Given the description of an element on the screen output the (x, y) to click on. 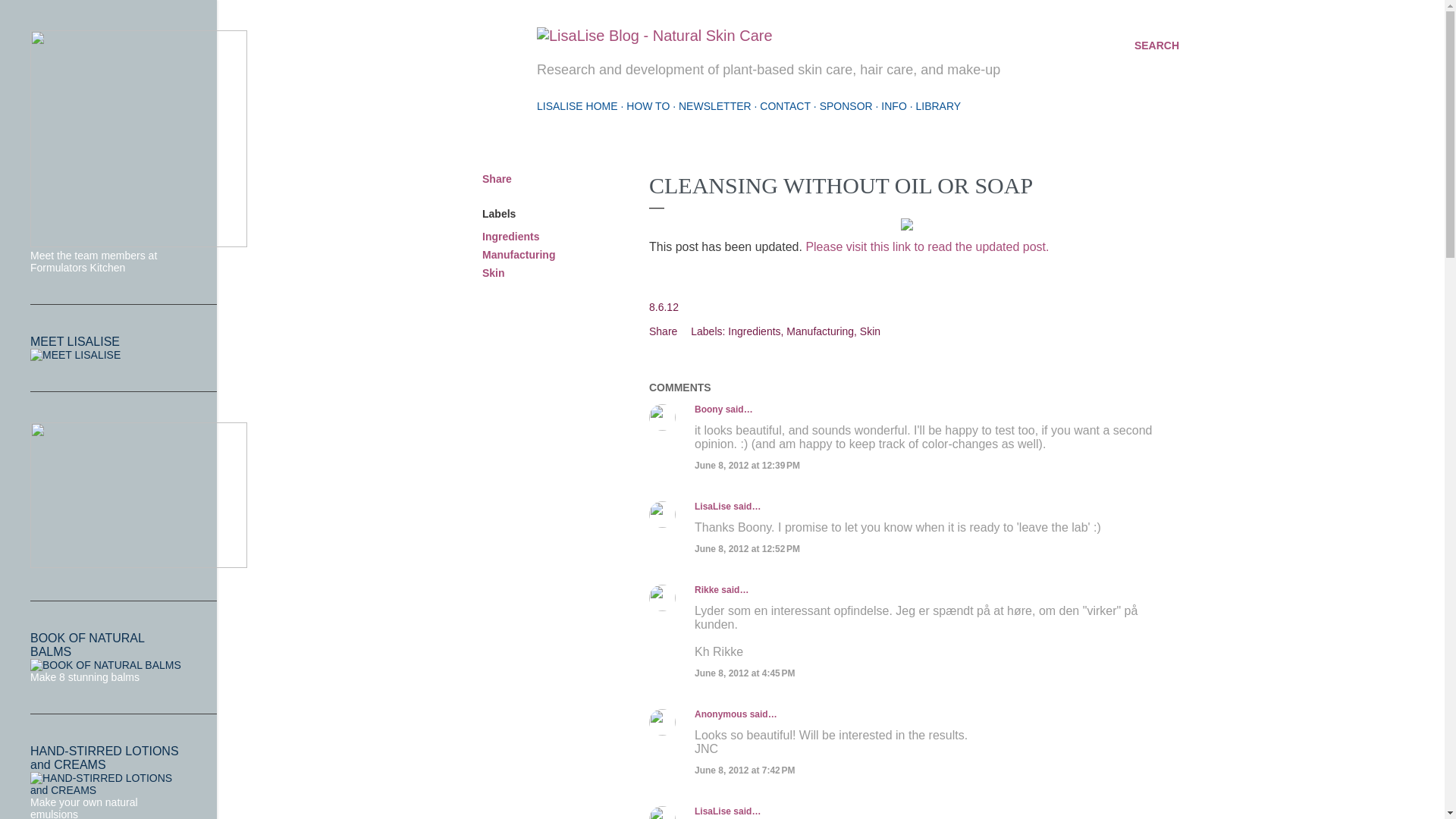
LISALISE HOME (577, 105)
Please visit this link to read the updated post.  (928, 246)
NEWSLETTER (714, 105)
Manufacturing (821, 331)
INFO (892, 105)
Rikke (706, 589)
LisaLise (712, 506)
Share (496, 178)
SEARCH (1156, 45)
LIBRARY (937, 105)
8.6.12 (663, 306)
comment permalink (746, 465)
